Given the description of an element on the screen output the (x, y) to click on. 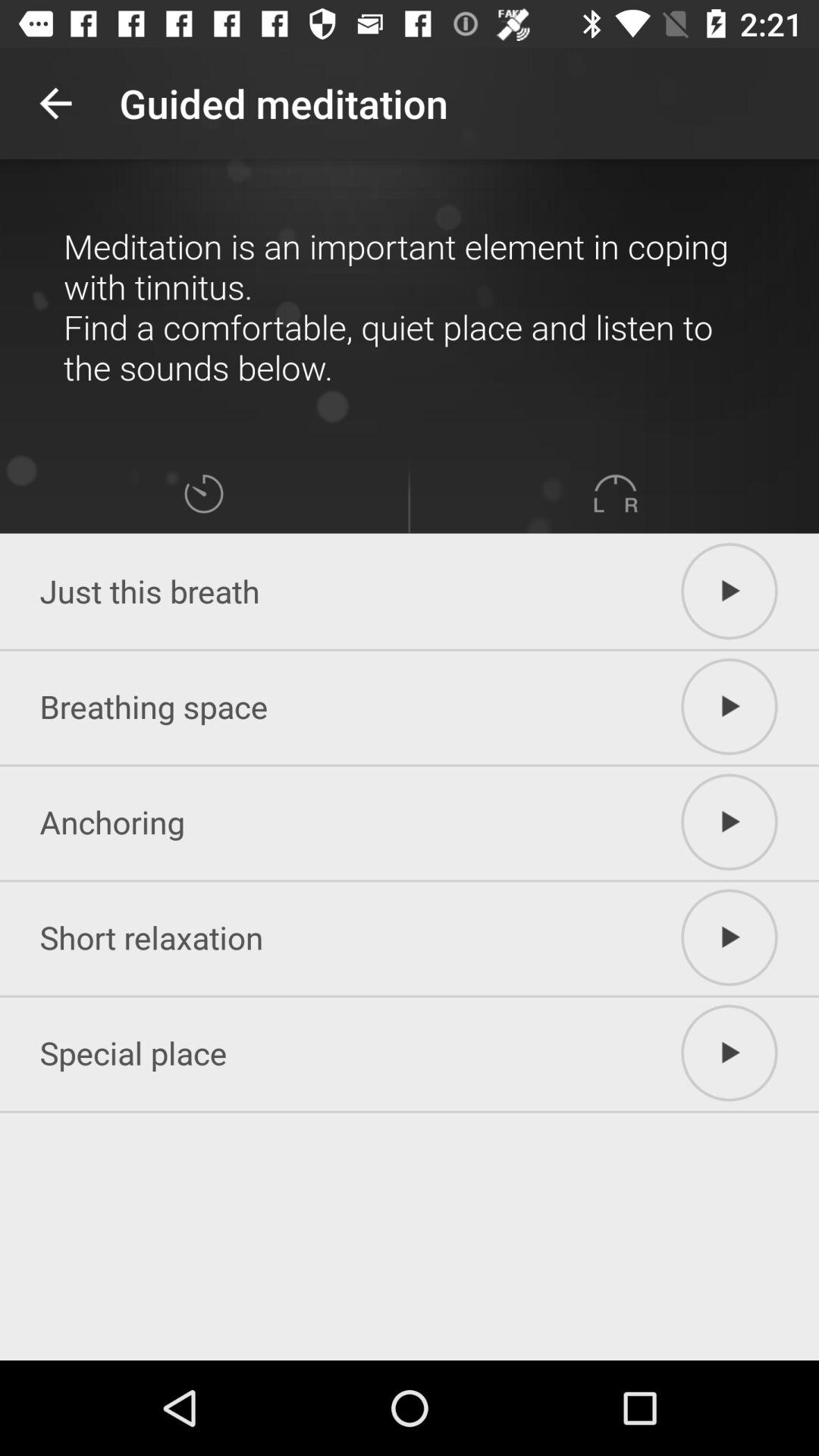
click the item at the top left corner (55, 103)
